Given the description of an element on the screen output the (x, y) to click on. 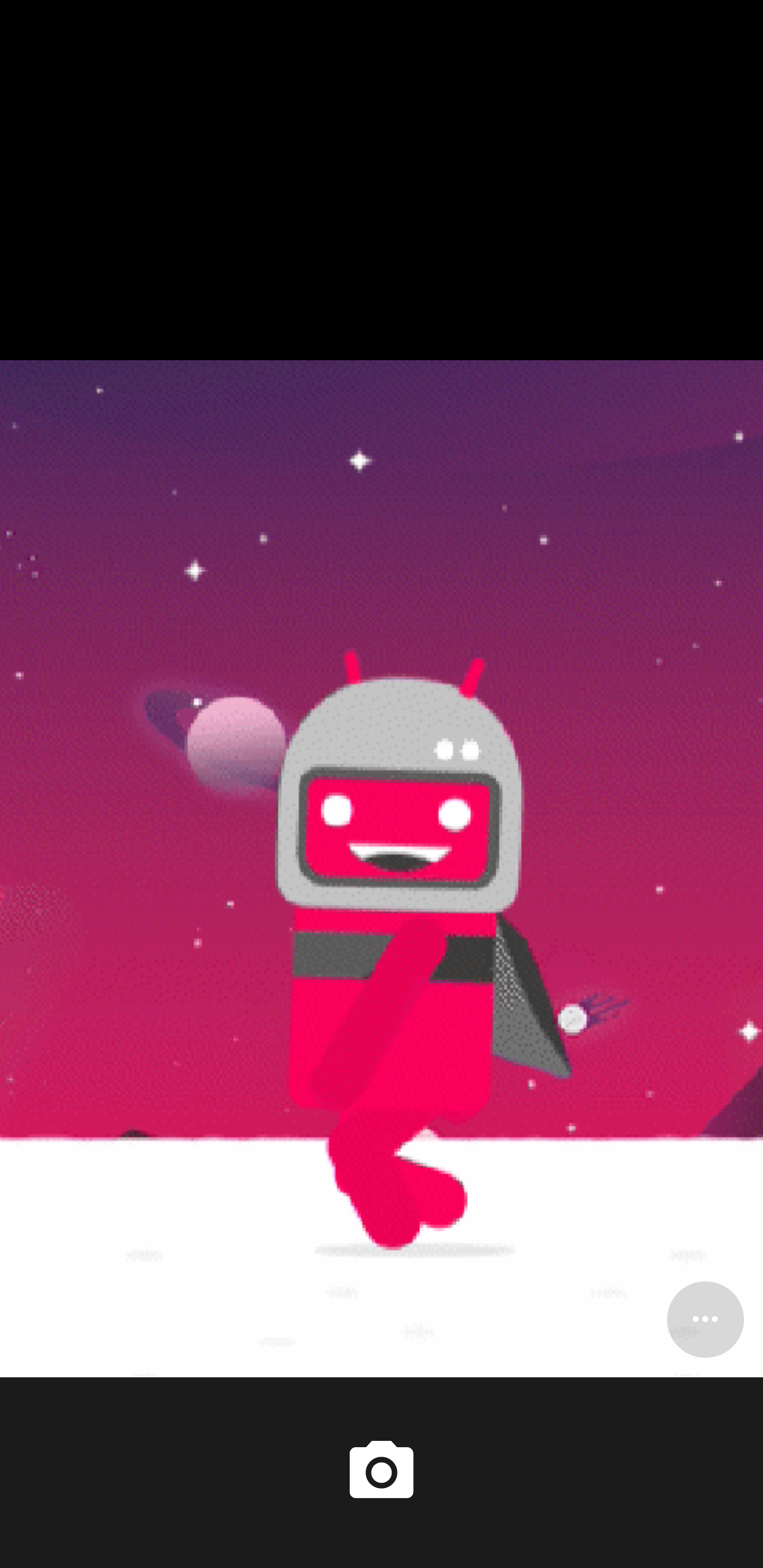
Options (704, 1319)
Shutter (381, 1472)
